Given the description of an element on the screen output the (x, y) to click on. 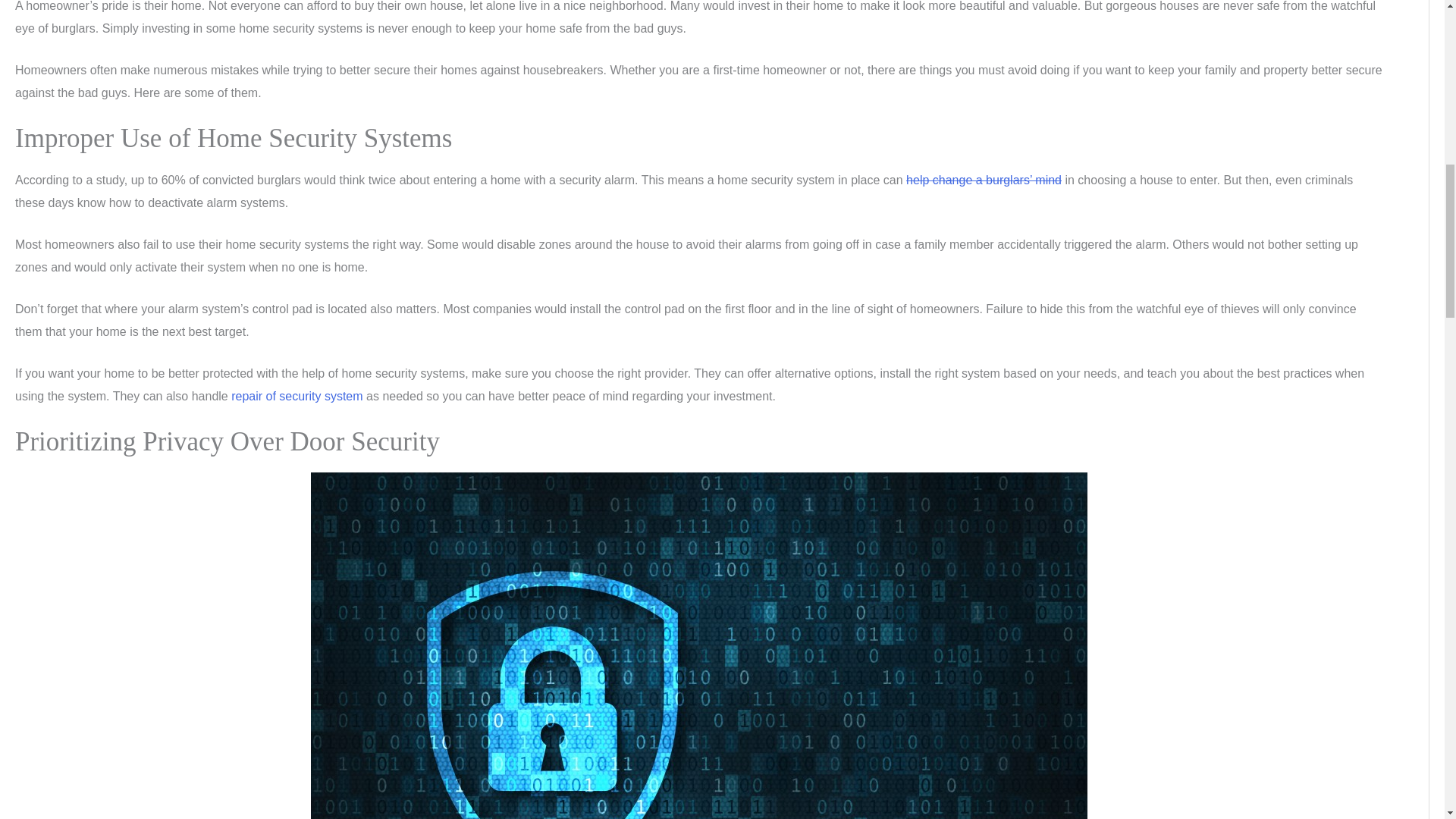
repair of security system (296, 395)
